Given the description of an element on the screen output the (x, y) to click on. 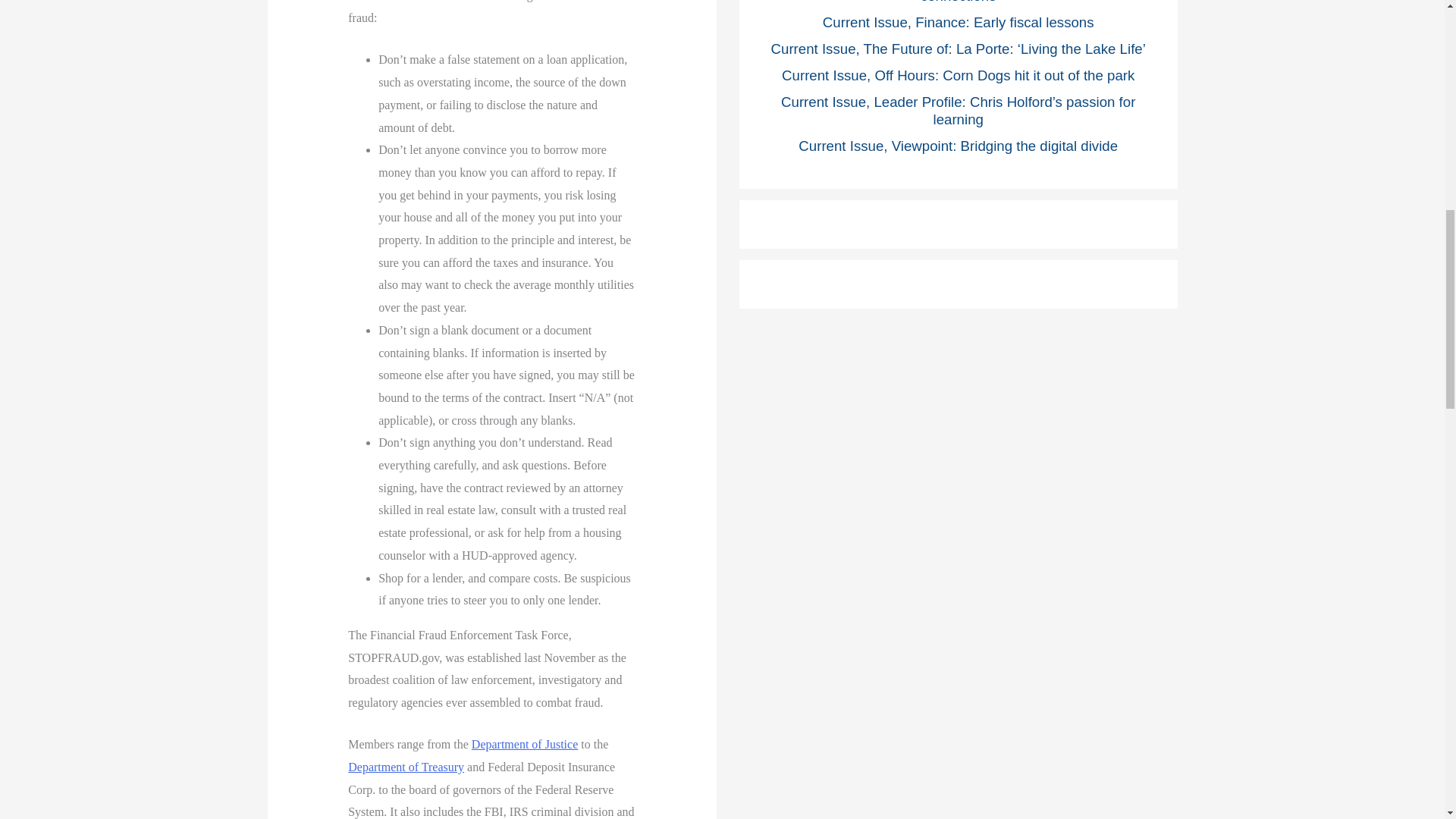
United States Department of Justice (524, 744)
United States Department of the Treasury (405, 766)
